Given the description of an element on the screen output the (x, y) to click on. 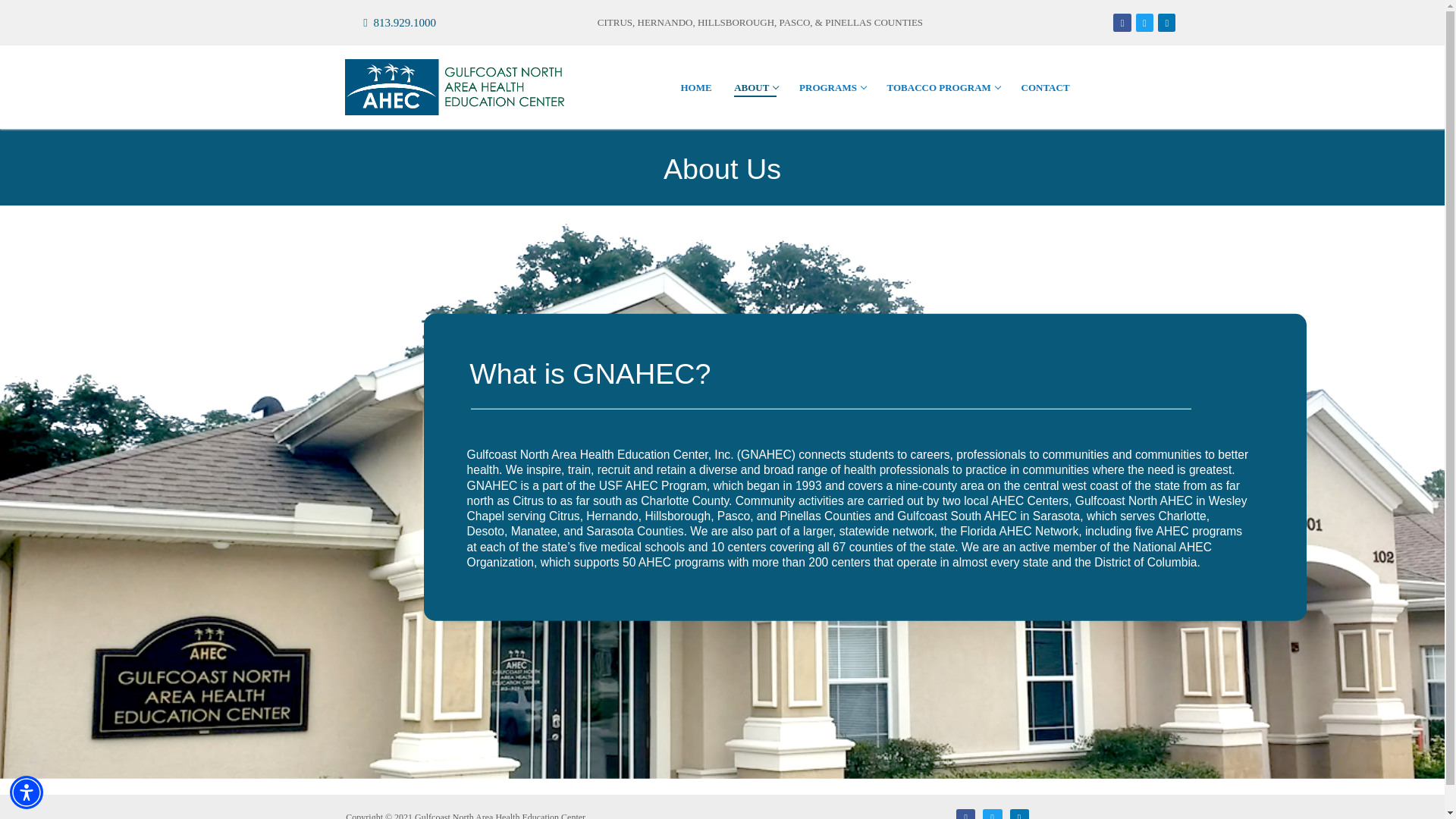
Accessibility Menu (26, 792)
Facebook (965, 816)
Twitter (832, 86)
HOME (1145, 22)
Linkedin (754, 86)
Facebook (694, 86)
Twitter (1019, 816)
813.929.1000 (1122, 22)
Linkedin (992, 816)
CONTACT (392, 22)
